Given the description of an element on the screen output the (x, y) to click on. 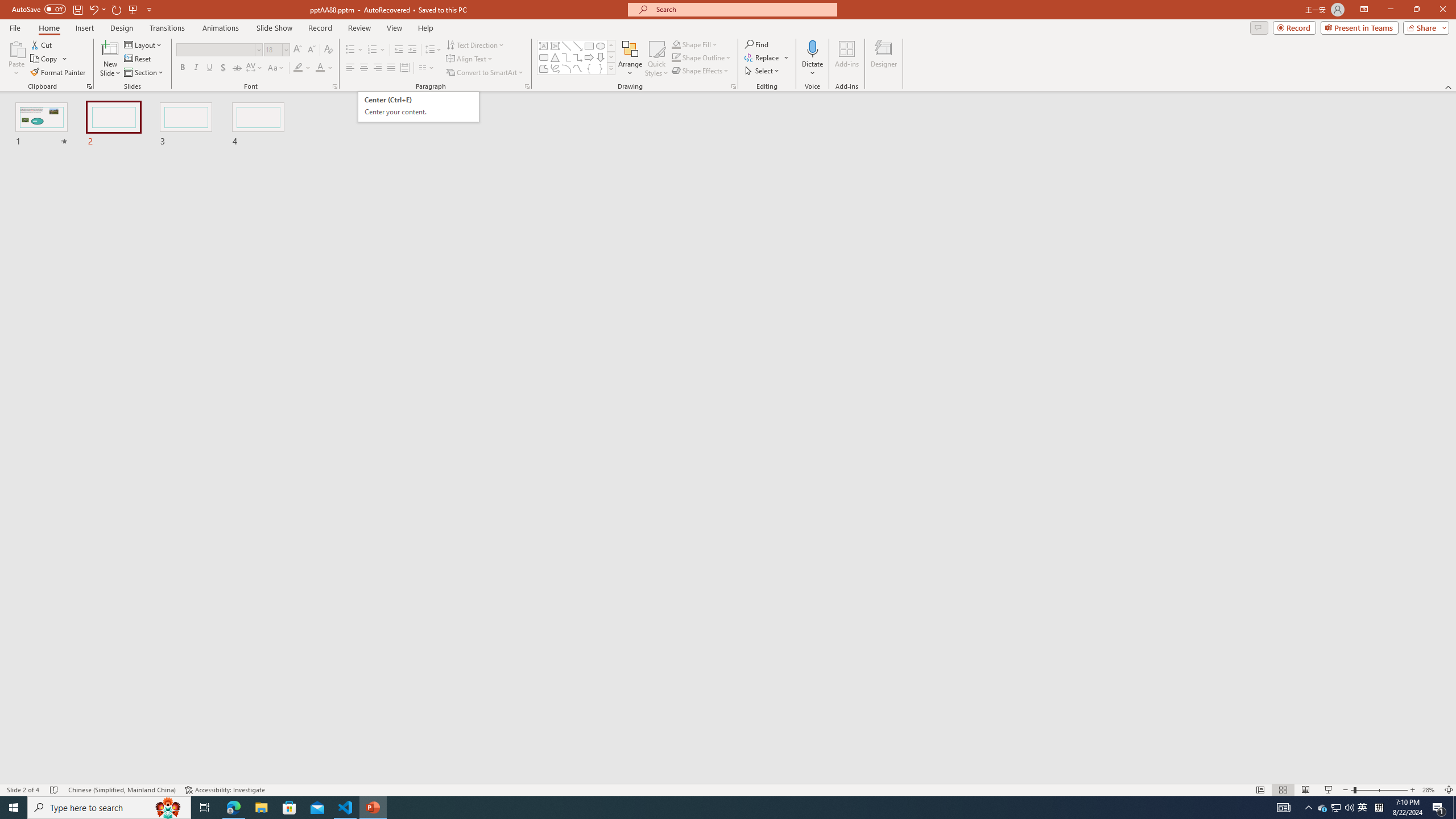
Replace... (767, 56)
Dictate (812, 58)
Microsoft search (742, 9)
Numbering (376, 49)
Section (144, 72)
Right Brace (600, 68)
Reset (138, 58)
Underline (209, 67)
Shadow (223, 67)
